Given the description of an element on the screen output the (x, y) to click on. 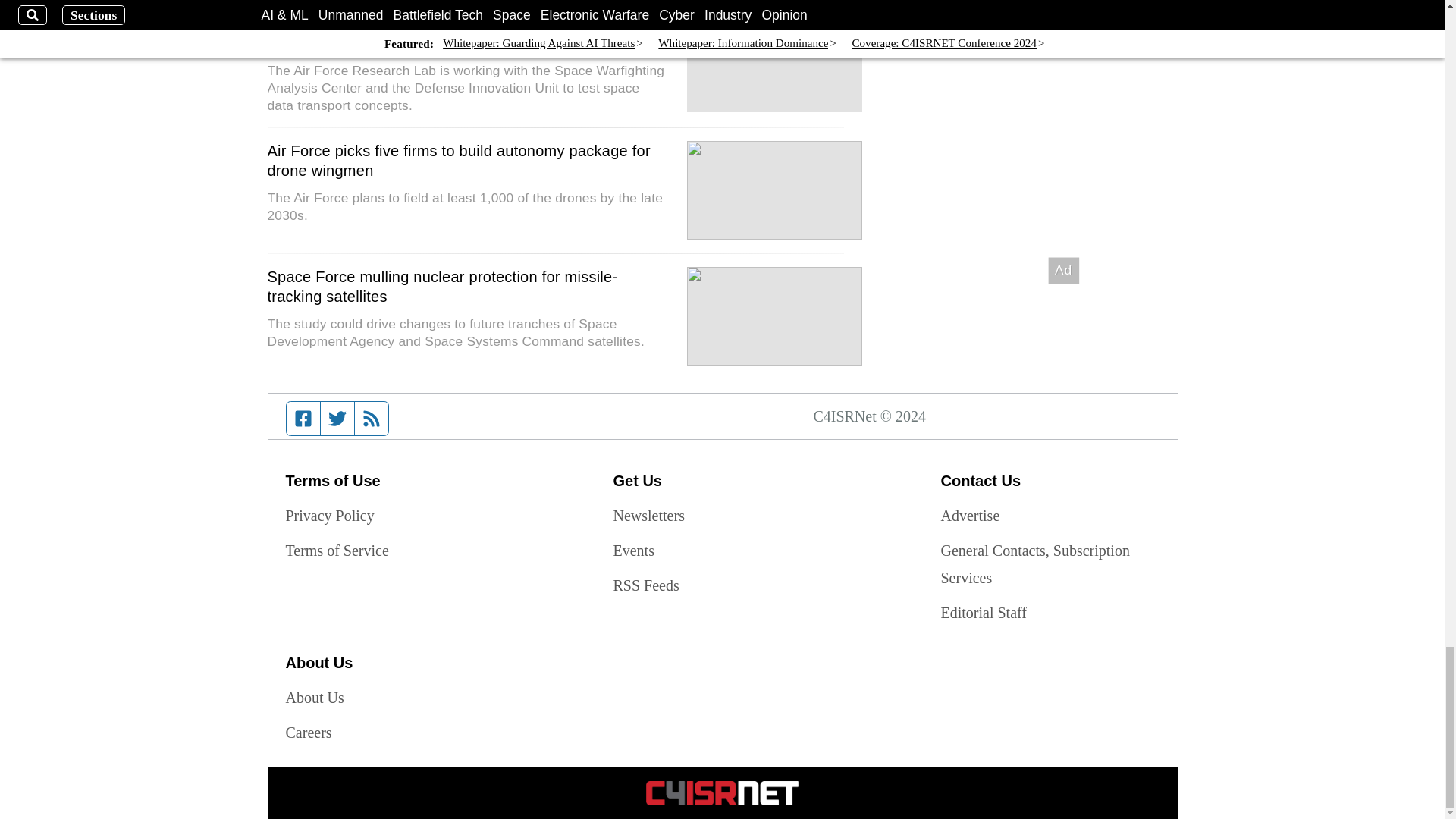
Facebook page (303, 418)
RSS feed (371, 418)
Twitter feed (336, 418)
